Given the description of an element on the screen output the (x, y) to click on. 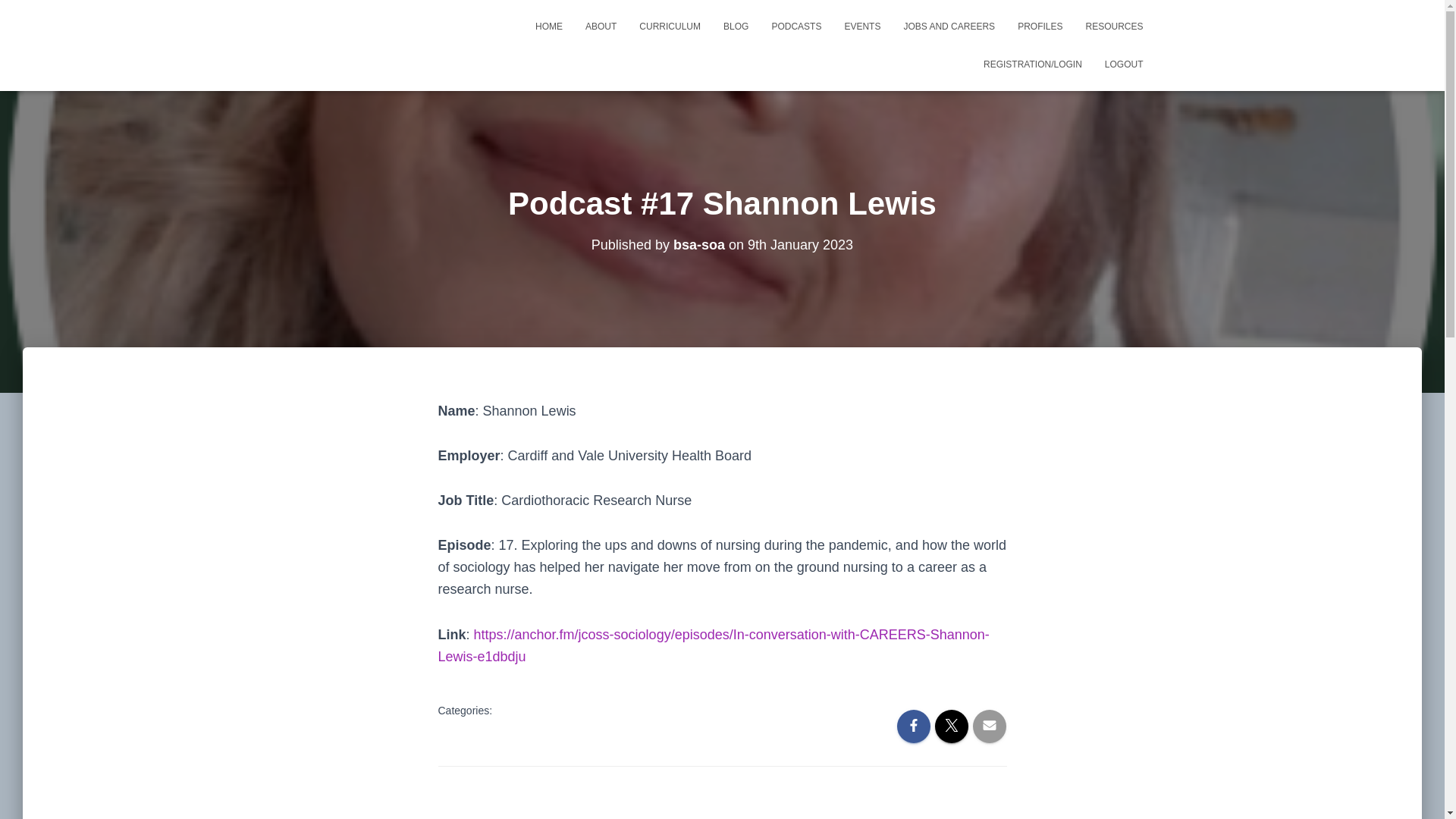
Events (861, 26)
CURRICULUM (669, 26)
Home (548, 26)
Podcasts (796, 26)
About (600, 26)
BLOG (735, 26)
Jobs and Careers (948, 26)
EVENTS (861, 26)
Profiles (1040, 26)
HOME (548, 26)
